Given the description of an element on the screen output the (x, y) to click on. 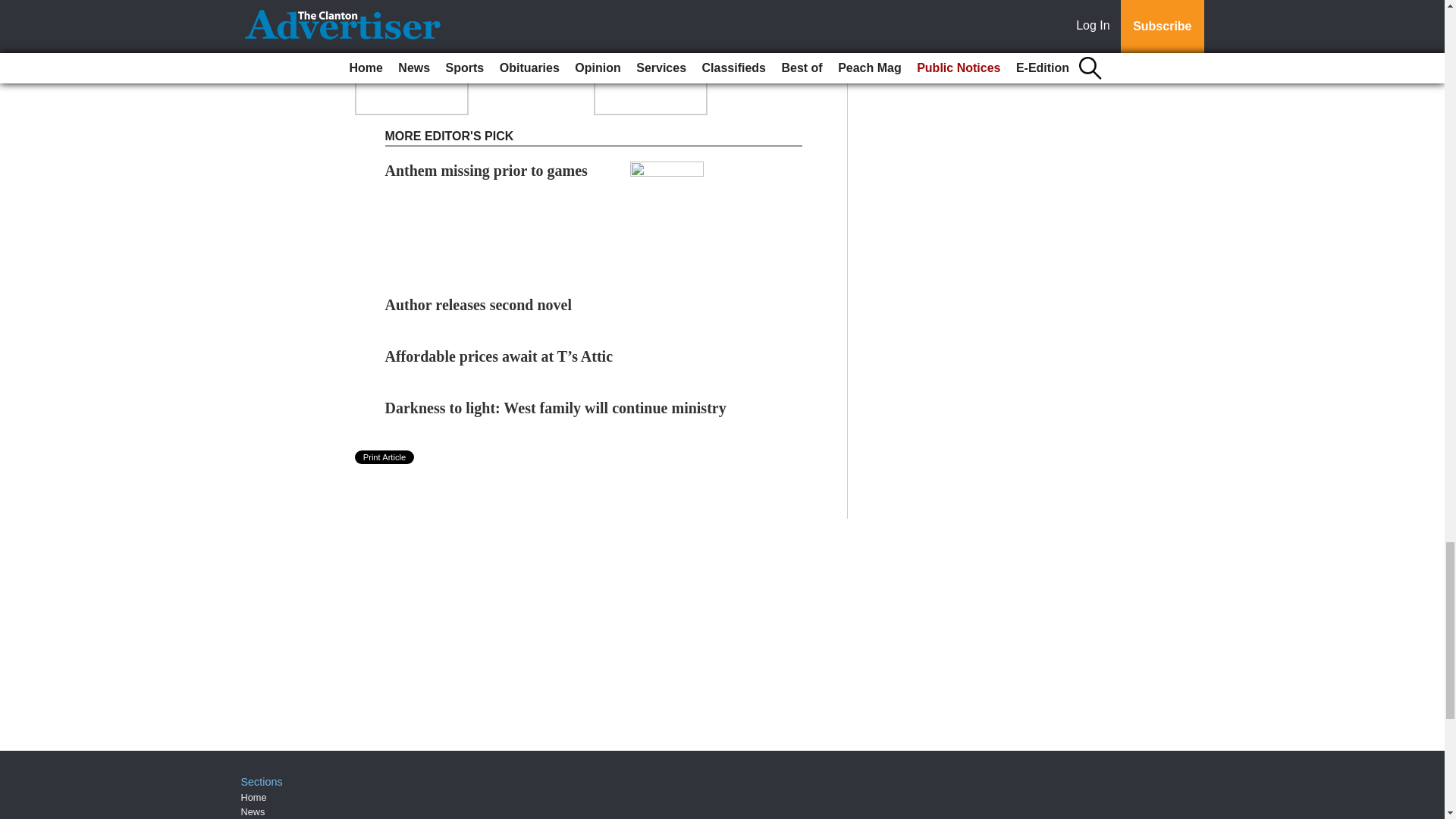
Author releases second novel (478, 304)
Darkness to light: West family will continue ministry (555, 407)
Print Article (384, 457)
Author releases second novel (478, 304)
Anthem missing prior to games (486, 170)
Anthem missing prior to games (486, 170)
Darkness to light: West family will continue ministry (555, 407)
